Given the description of an element on the screen output the (x, y) to click on. 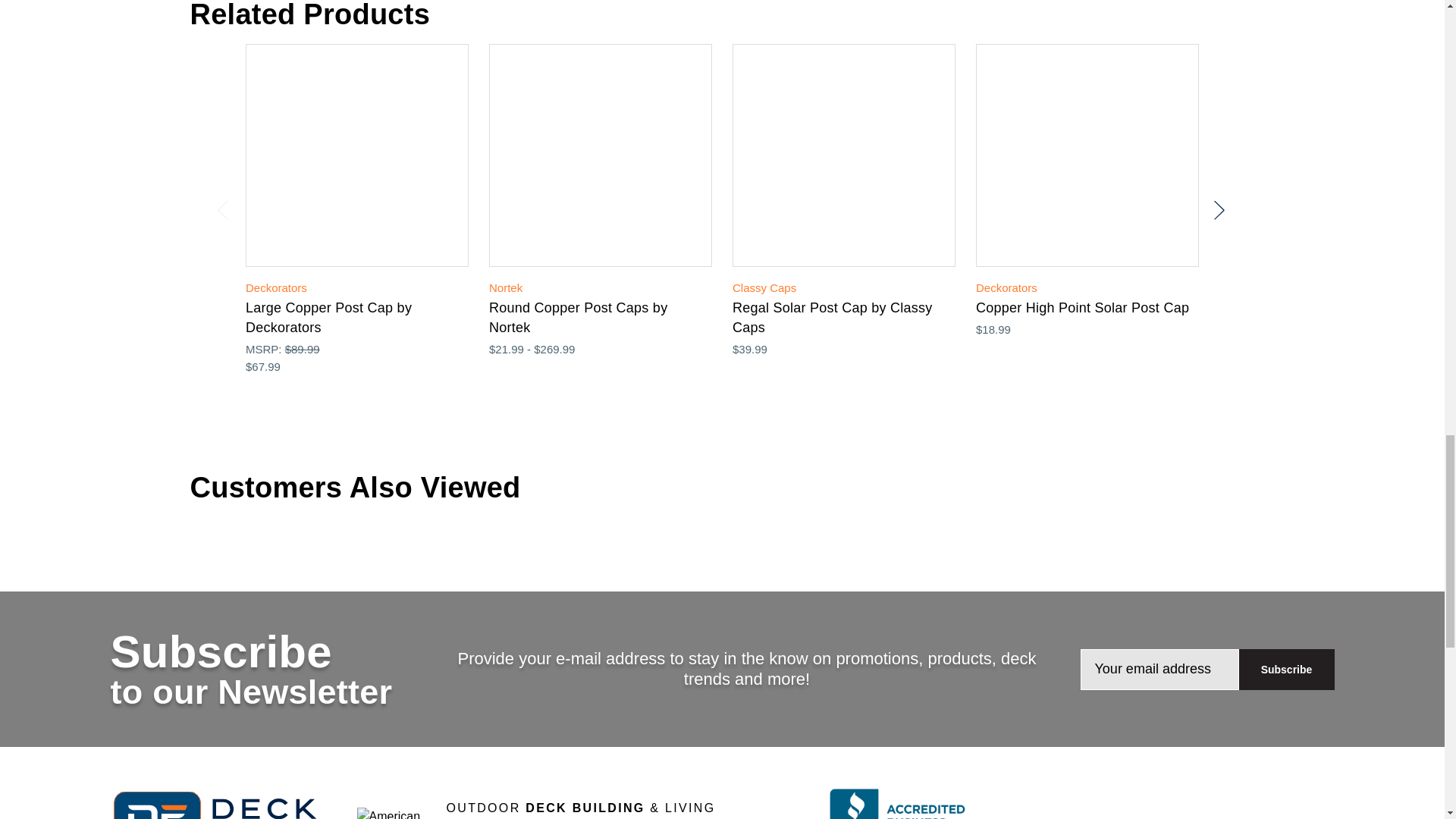
High Point Large Copper Post Cap by Deckorators (356, 154)
Subscribe (1287, 669)
Deckorators Copper High Point Solar Post Cap (1086, 154)
Nortek Round Copper Post Caps by Nortek (600, 154)
Deck Expressions (223, 805)
Regal Solar Post Cap by Classy Caps (843, 154)
